Given the description of an element on the screen output the (x, y) to click on. 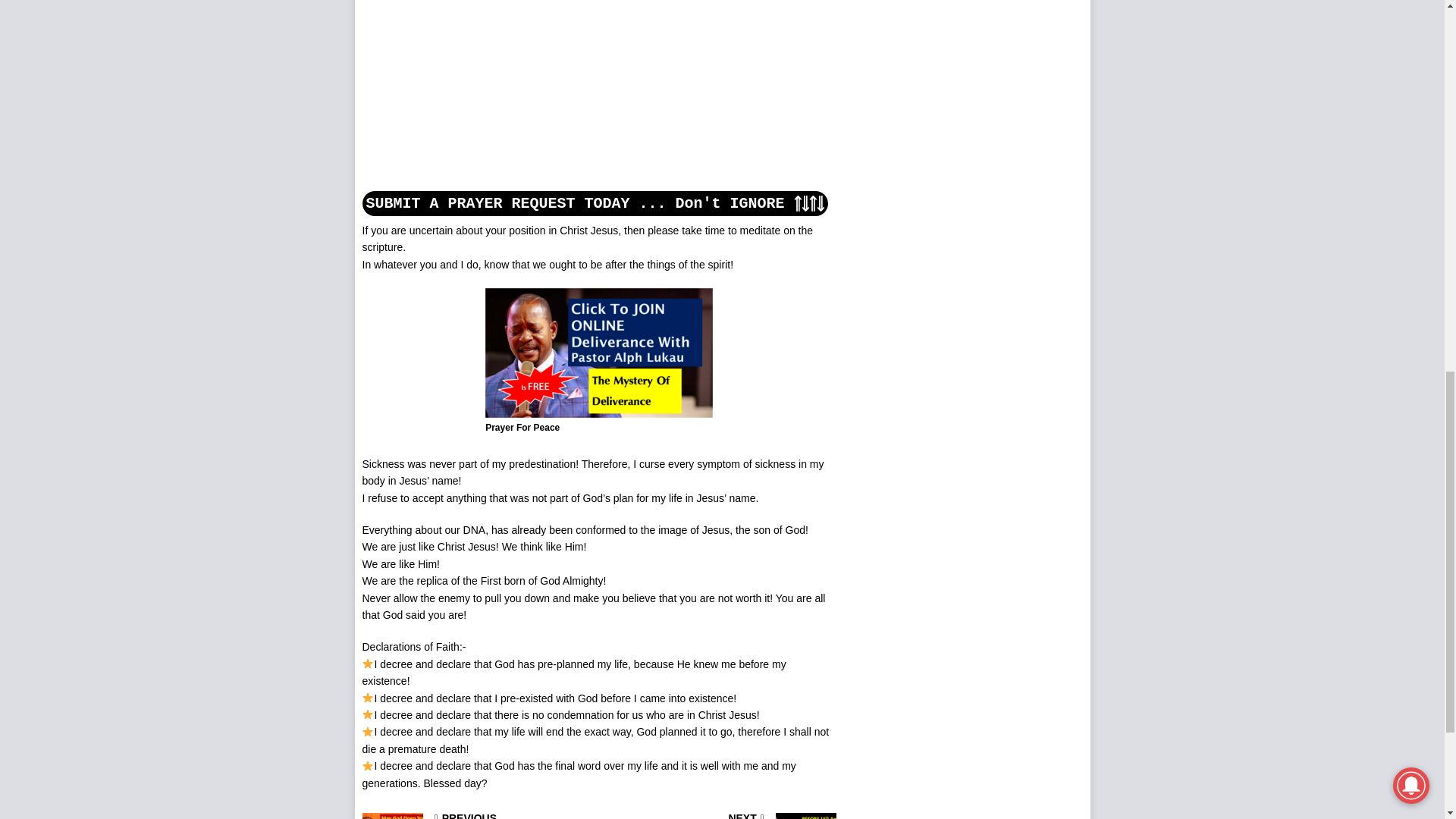
Advertisement (475, 93)
